Given the description of an element on the screen output the (x, y) to click on. 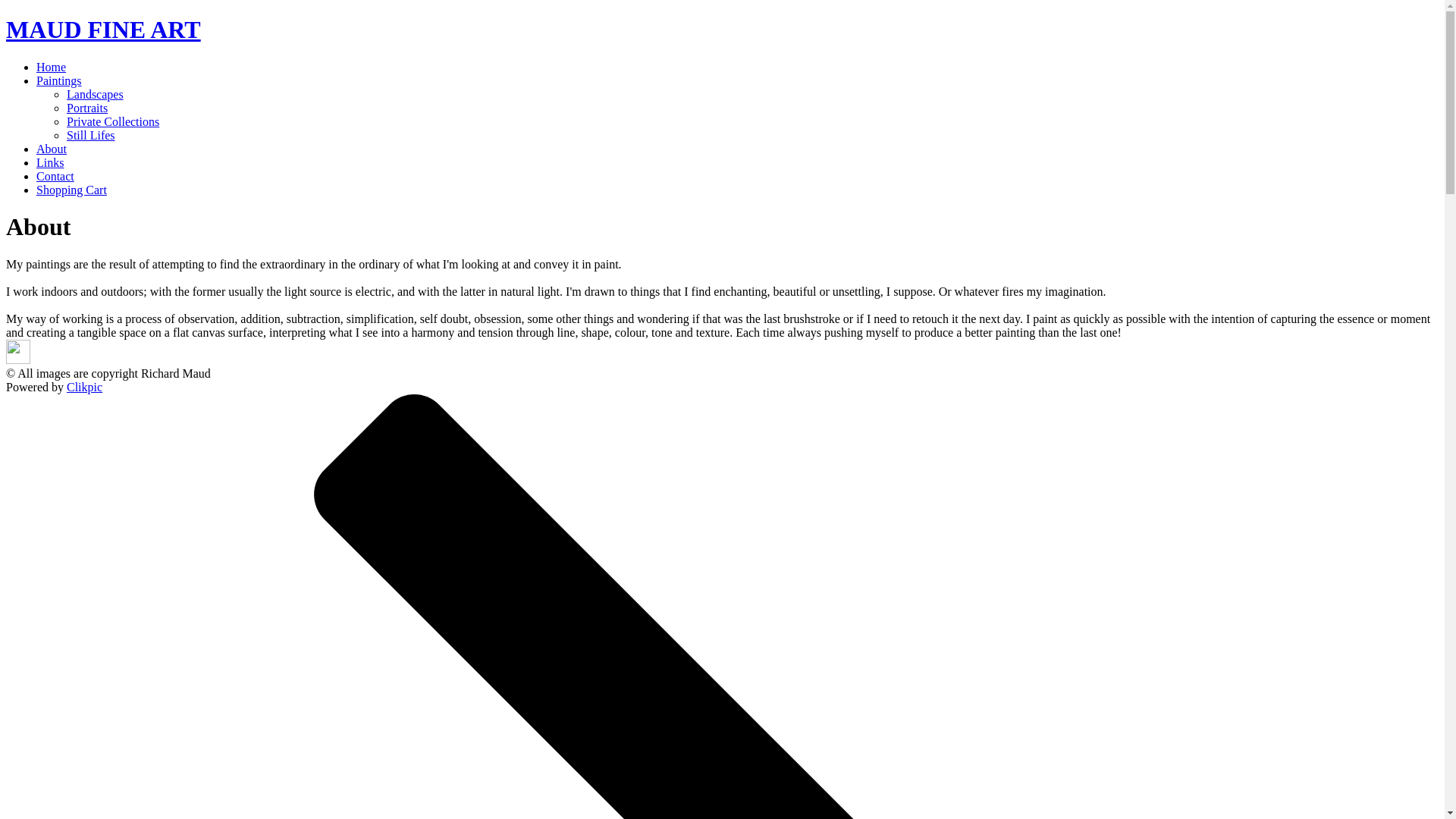
Still Lifes (90, 134)
Clikpic (83, 386)
Home (50, 66)
Contact (55, 175)
Landscapes (94, 93)
Paintings (58, 80)
Portraits (86, 107)
Private Collections (112, 121)
MAUD FINE ART (102, 29)
About (51, 148)
